Given the description of an element on the screen output the (x, y) to click on. 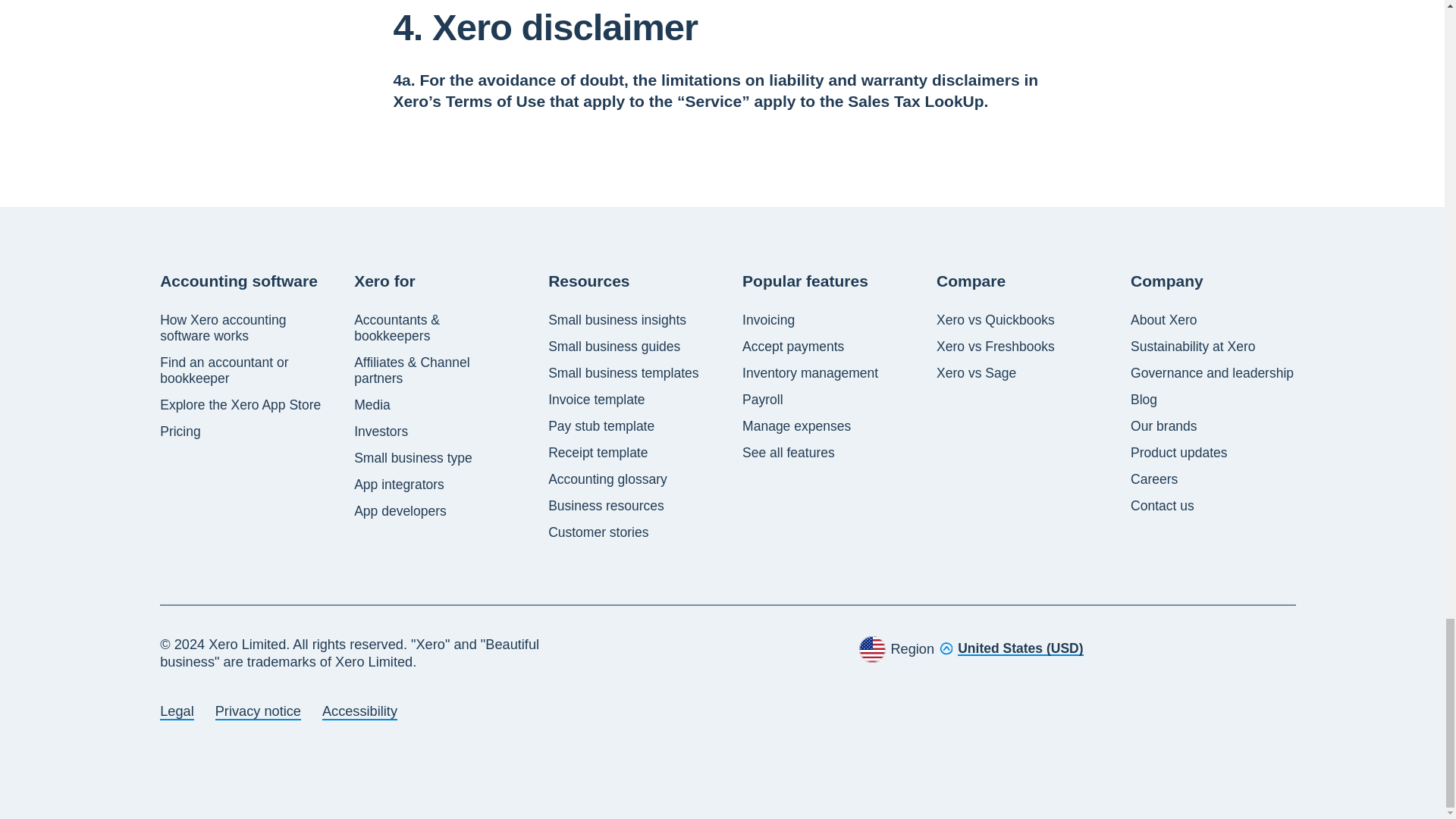
Invoice template (596, 399)
Accounting glossary (607, 479)
Media (371, 405)
Small business insights (616, 320)
App developers (399, 511)
Business resources (605, 505)
Pay stub template (600, 426)
App integrators (398, 484)
Customer stories (597, 532)
Invoicing (768, 320)
Small business guides (613, 346)
Explore the Xero App Store (240, 405)
Pricing (180, 431)
Find an accountant or bookkeeper (242, 370)
Small business templates (623, 373)
